Given the description of an element on the screen output the (x, y) to click on. 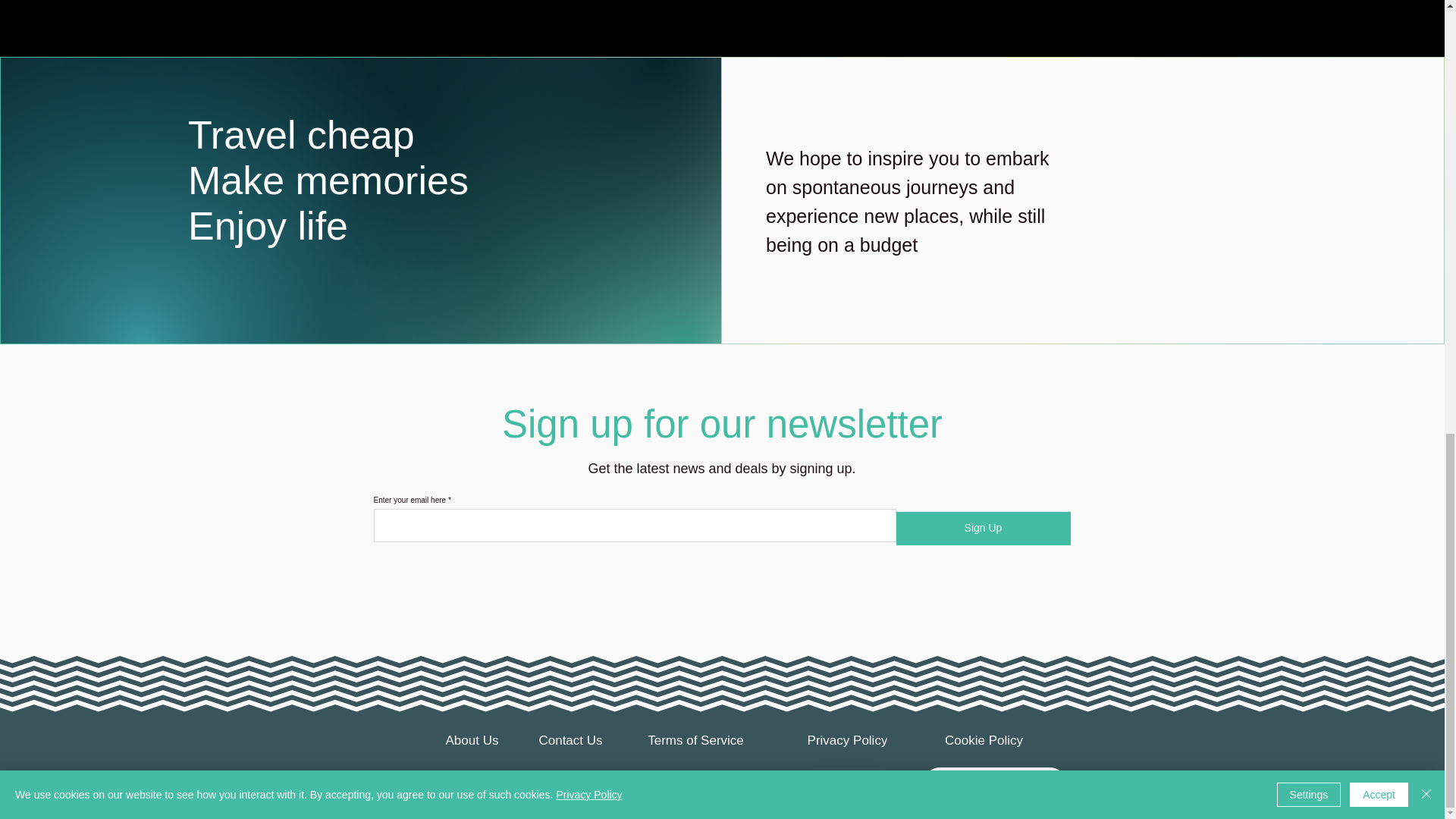
Sign Up (983, 528)
Privacy Policy (847, 740)
Contact Us (570, 740)
Terms of Service (695, 740)
Cookie Policy (984, 740)
About Us (472, 740)
